Given the description of an element on the screen output the (x, y) to click on. 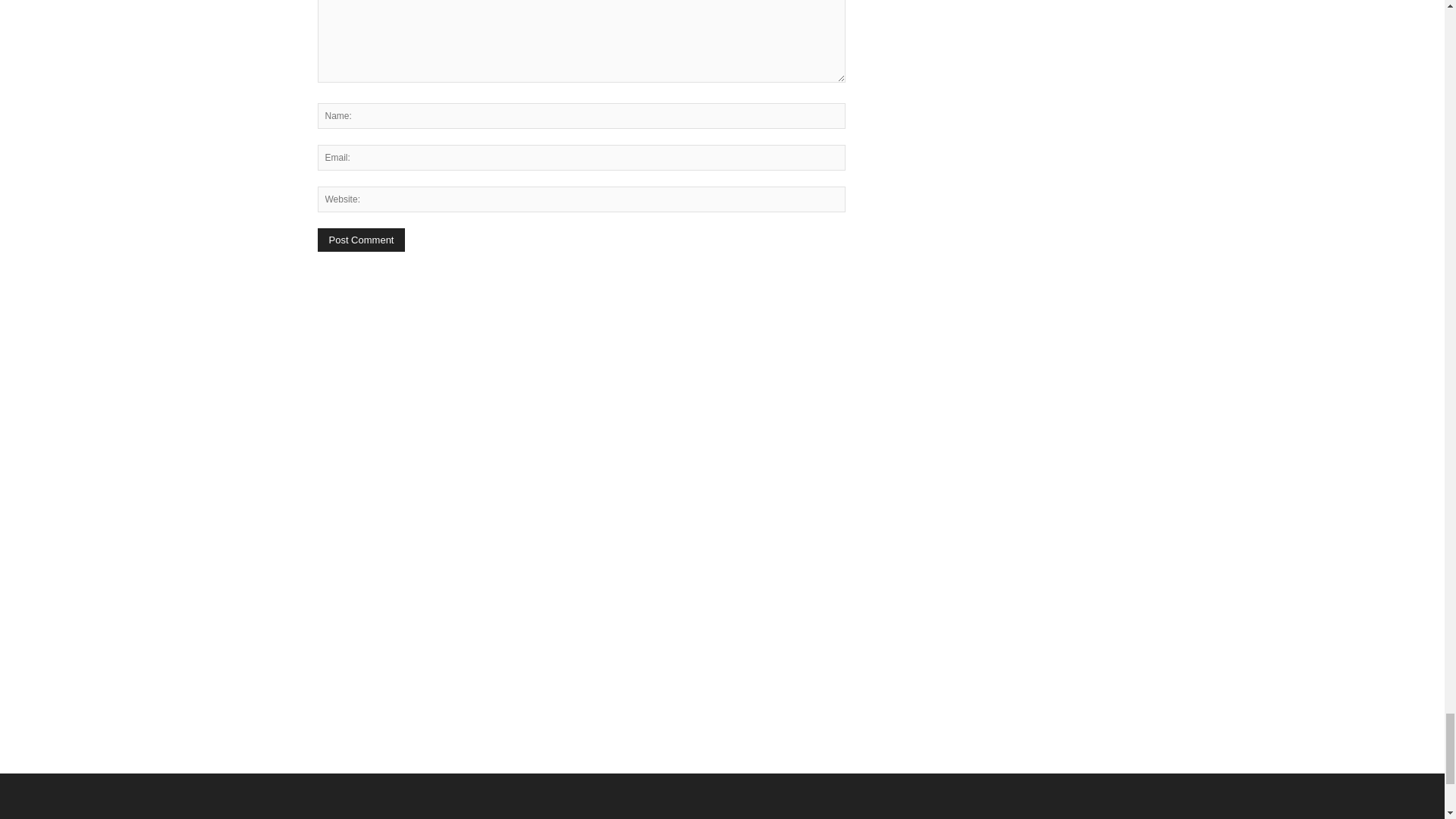
Post Comment (360, 239)
